Given the description of an element on the screen output the (x, y) to click on. 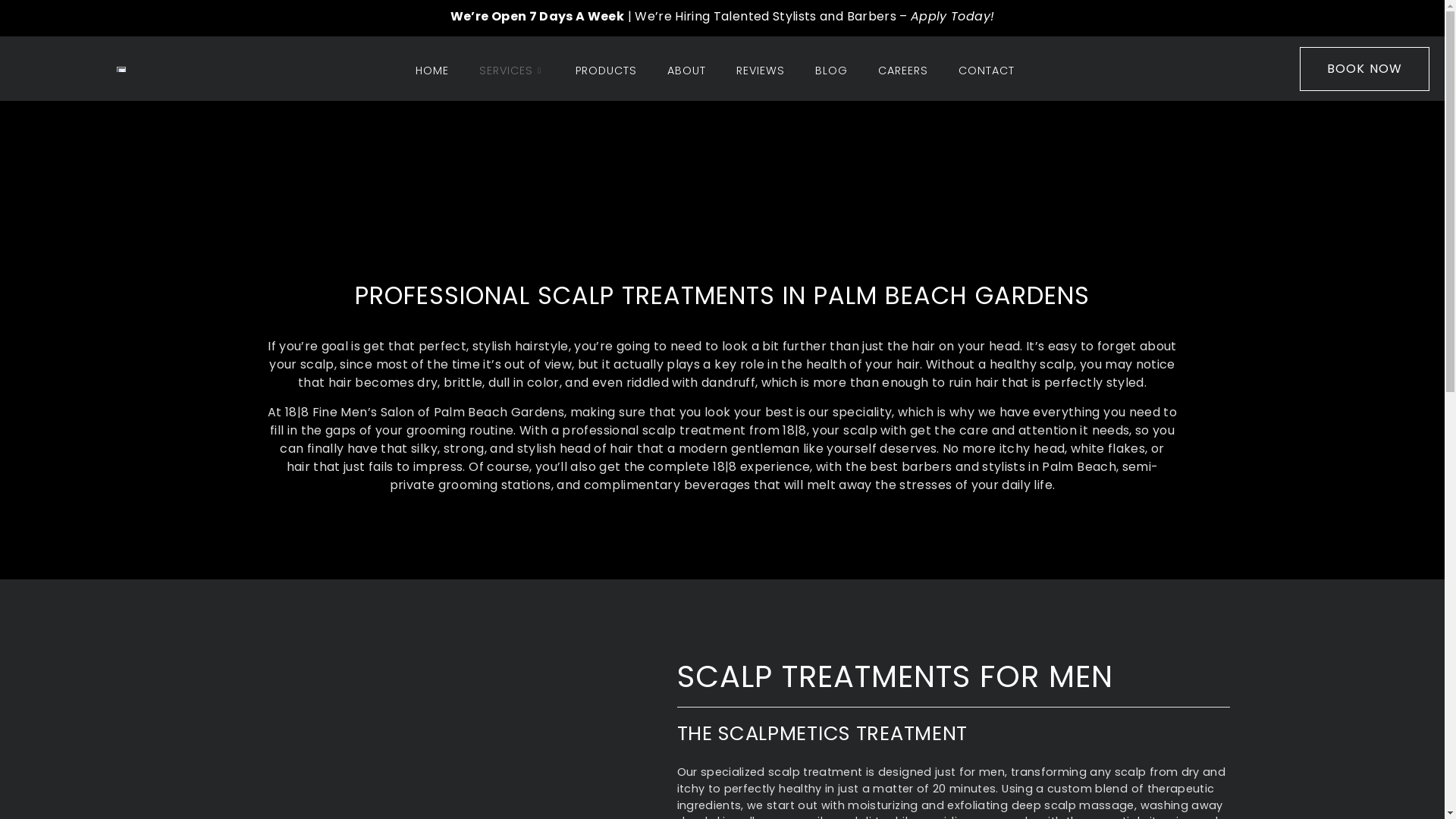
ABOUT Element type: text (686, 70)
SERVICES Element type: text (512, 70)
CAREERS Element type: text (902, 70)
CONTACT Element type: text (986, 70)
BLOG Element type: text (831, 70)
BOOK NOW Element type: text (1364, 69)
HOME Element type: text (432, 70)
PRODUCTS Element type: text (606, 70)
REVIEWS Element type: text (760, 70)
